Given the description of an element on the screen output the (x, y) to click on. 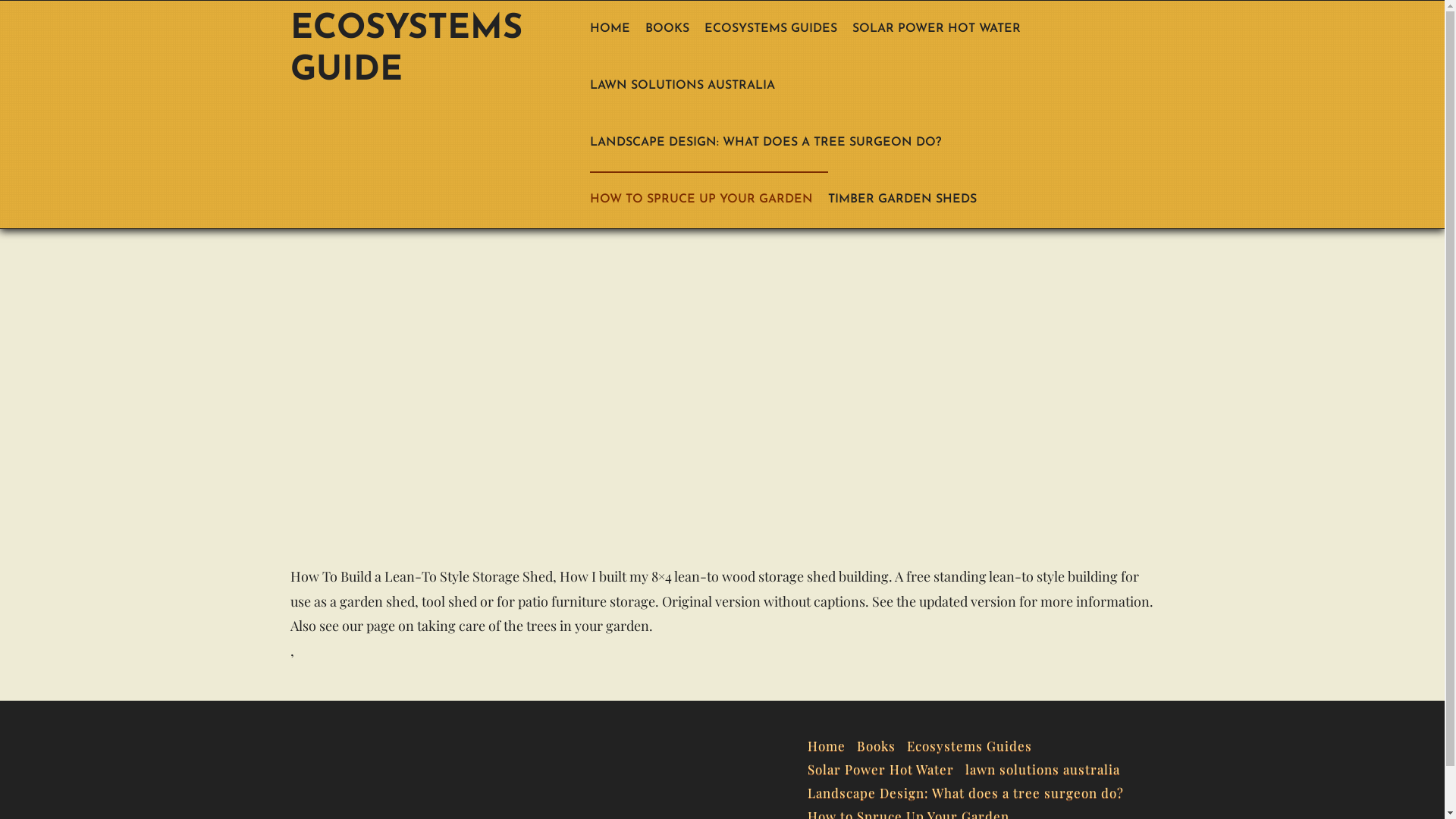
ECOSYSTEMS GUIDE Element type: text (428, 49)
LANDSCAPE DESIGN: WHAT DOES A TREE SURGEON DO? Element type: text (772, 142)
taking care of the trees in your garden Element type: text (533, 625)
SOLAR POWER HOT WATER Element type: text (943, 28)
HOME Element type: text (617, 28)
ECOSYSTEMS GUIDES Element type: text (777, 28)
TIMBER GARDEN SHEDS Element type: text (909, 199)
Books Element type: text (881, 742)
Ecosystems Guides Element type: text (974, 742)
lawn solutions australia Element type: text (1048, 766)
Landscape Design: What does a tree surgeon do? Element type: text (971, 789)
LAWN SOLUTIONS AUSTRALIA Element type: text (689, 85)
HOW TO SPRUCE UP YOUR GARDEN Element type: text (708, 199)
Home Element type: text (831, 742)
BOOKS Element type: text (673, 28)
Solar Power Hot Water Element type: text (886, 766)
